Given the description of an element on the screen output the (x, y) to click on. 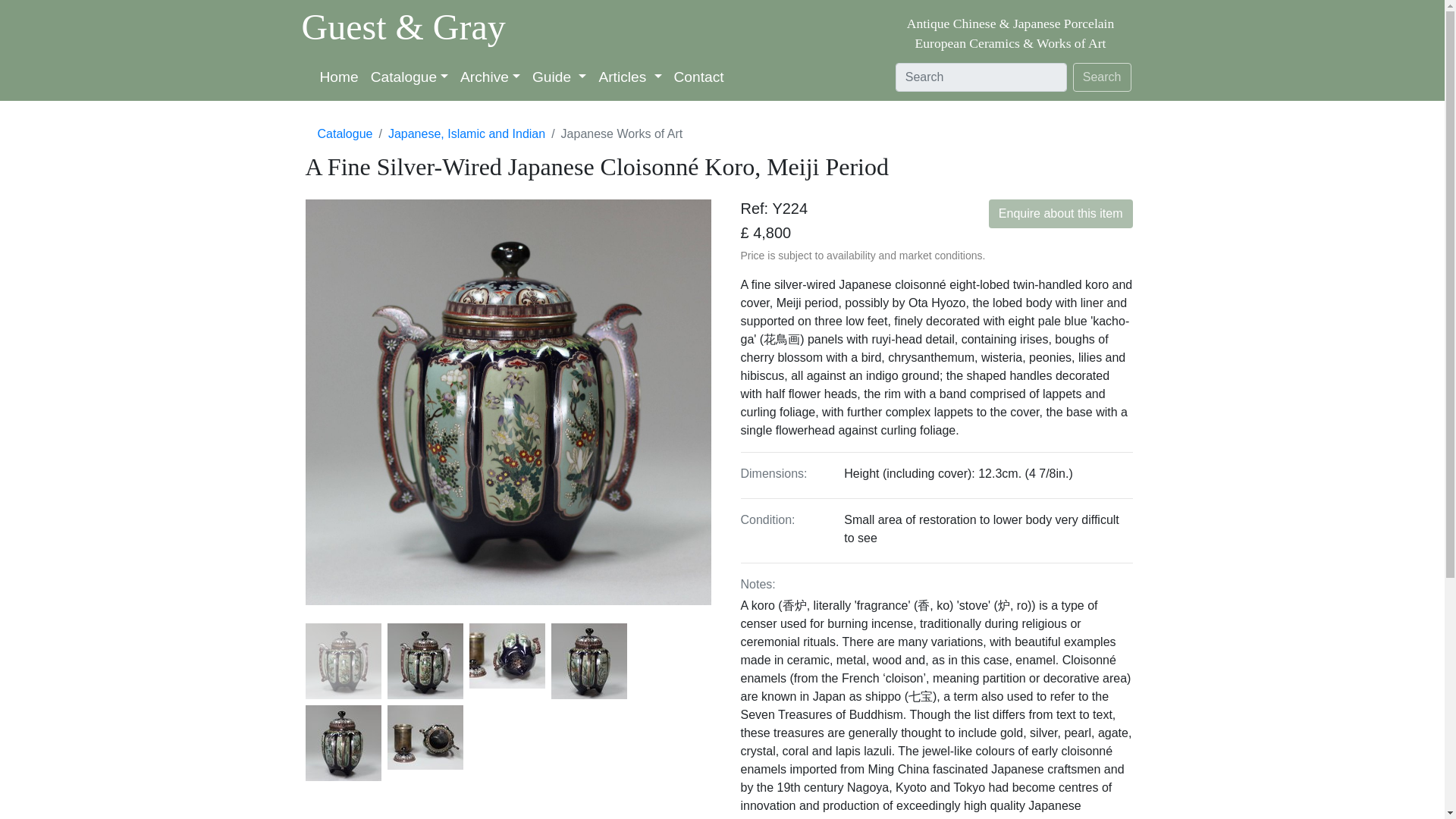
Catalogue (409, 77)
Home (339, 77)
Archive (489, 77)
